Given the description of an element on the screen output the (x, y) to click on. 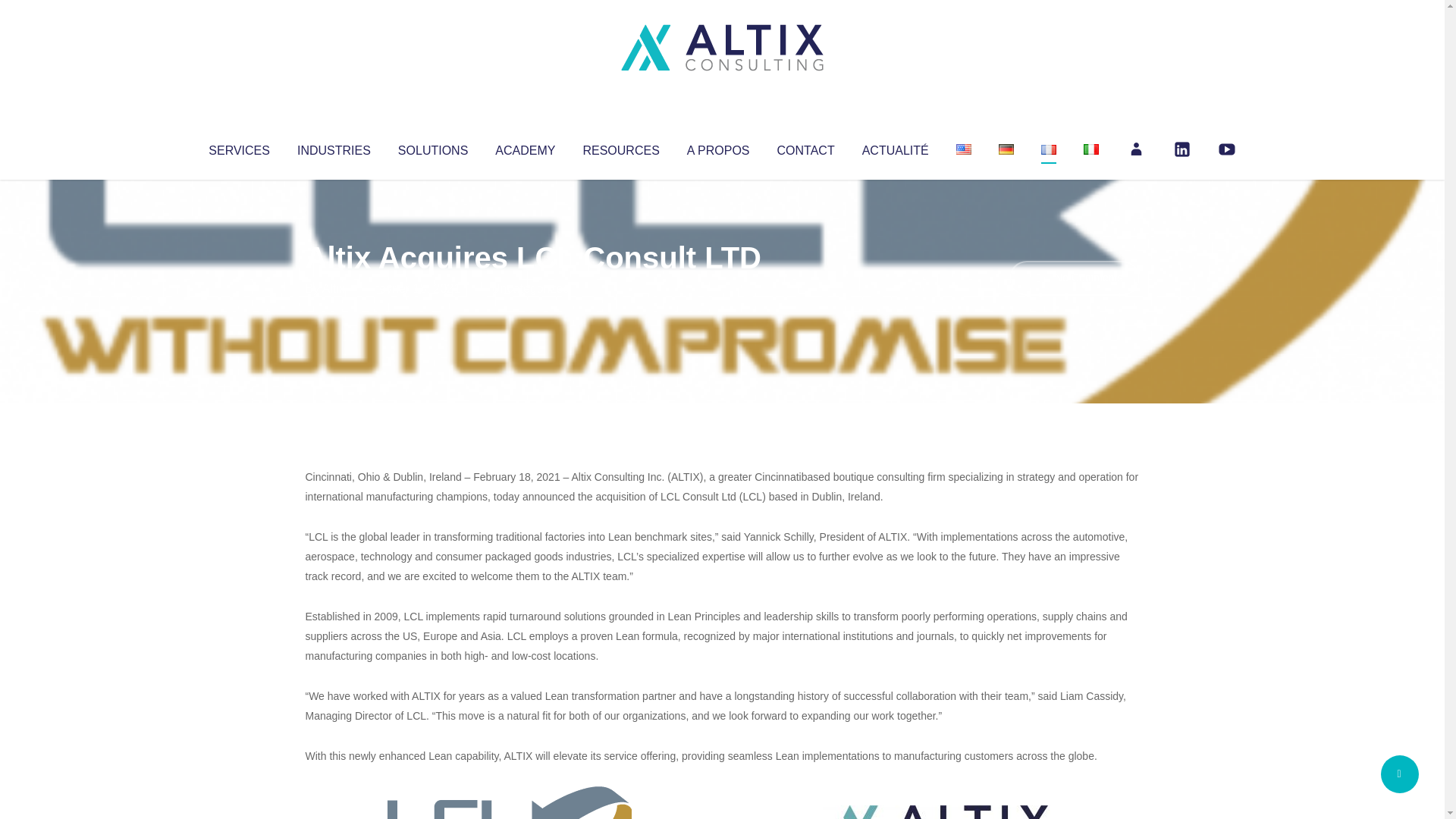
No Comments (1073, 278)
ACADEMY (524, 146)
RESOURCES (620, 146)
SERVICES (238, 146)
SOLUTIONS (432, 146)
A PROPOS (718, 146)
INDUSTRIES (334, 146)
Uncategorized (530, 287)
Altix (333, 287)
Articles par Altix (333, 287)
